Given the description of an element on the screen output the (x, y) to click on. 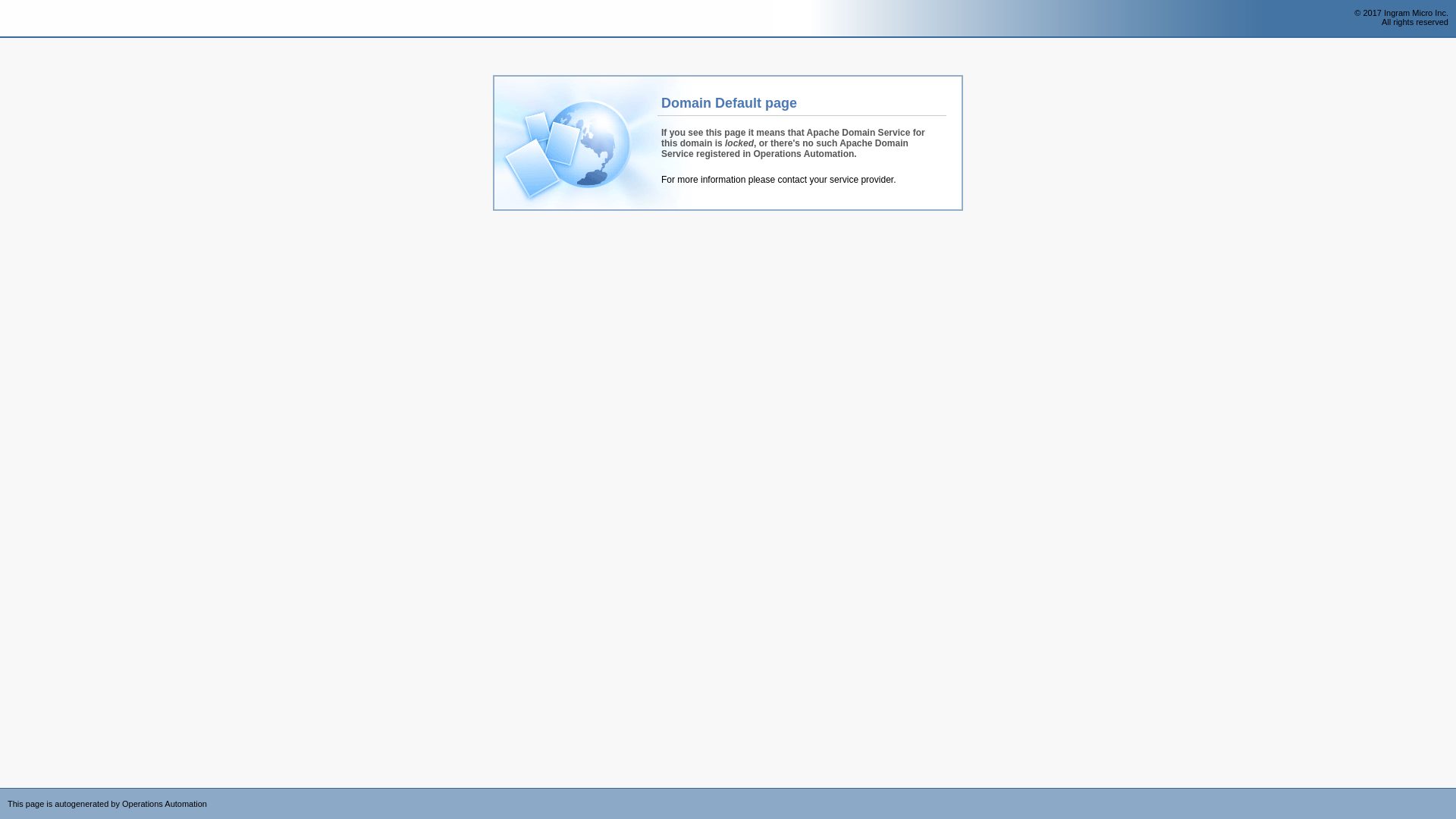
Operations Automation Element type: text (39, 18)
Powered by CloudBlue Commerce Element type: hover (1447, 792)
